Given the description of an element on the screen output the (x, y) to click on. 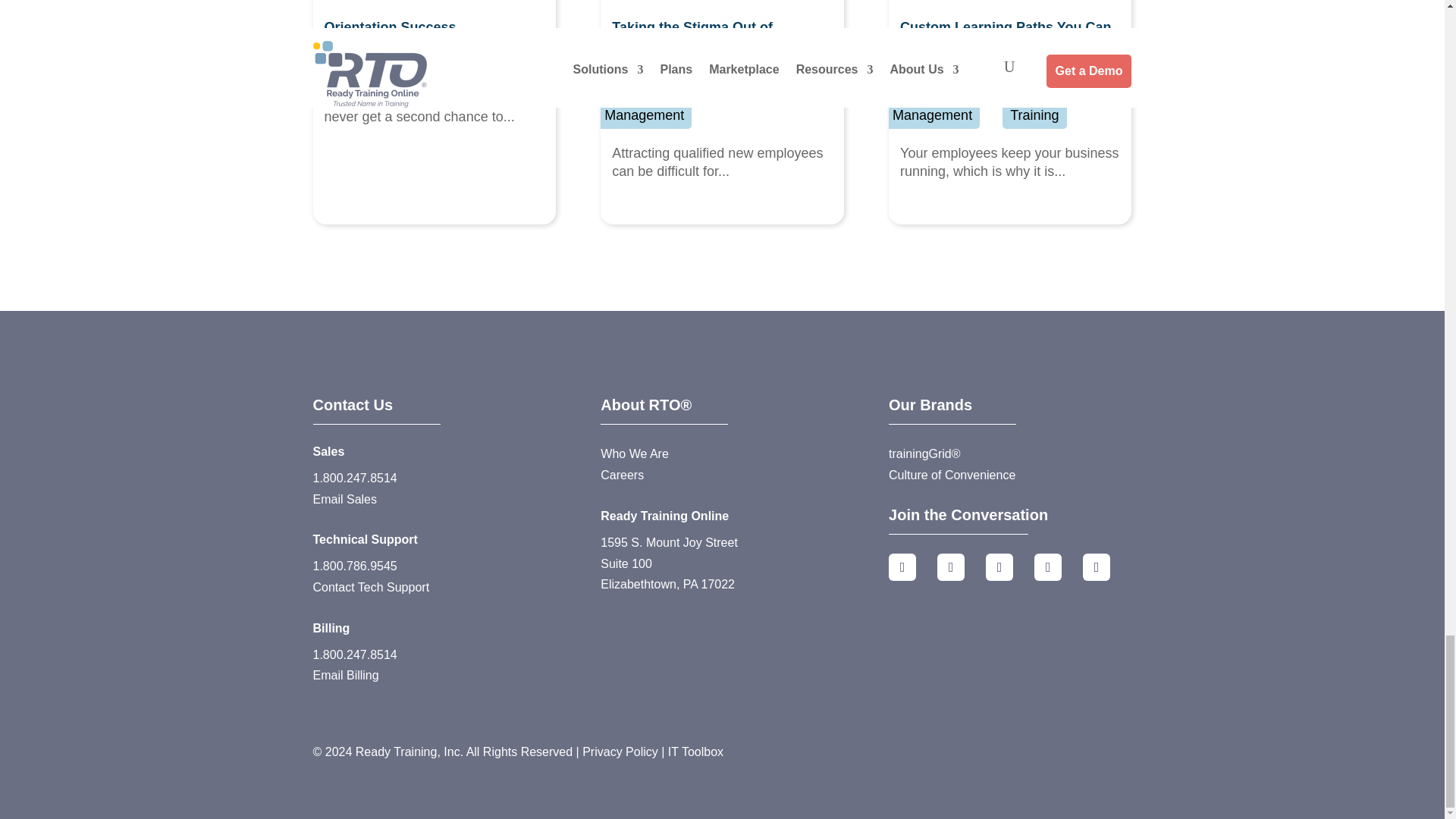
Follow on Youtube (1096, 566)
Follow on Facebook (901, 566)
Follow on LinkedIn (999, 566)
Follow on X (950, 566)
Follow on Instagram (1047, 566)
